Given the description of an element on the screen output the (x, y) to click on. 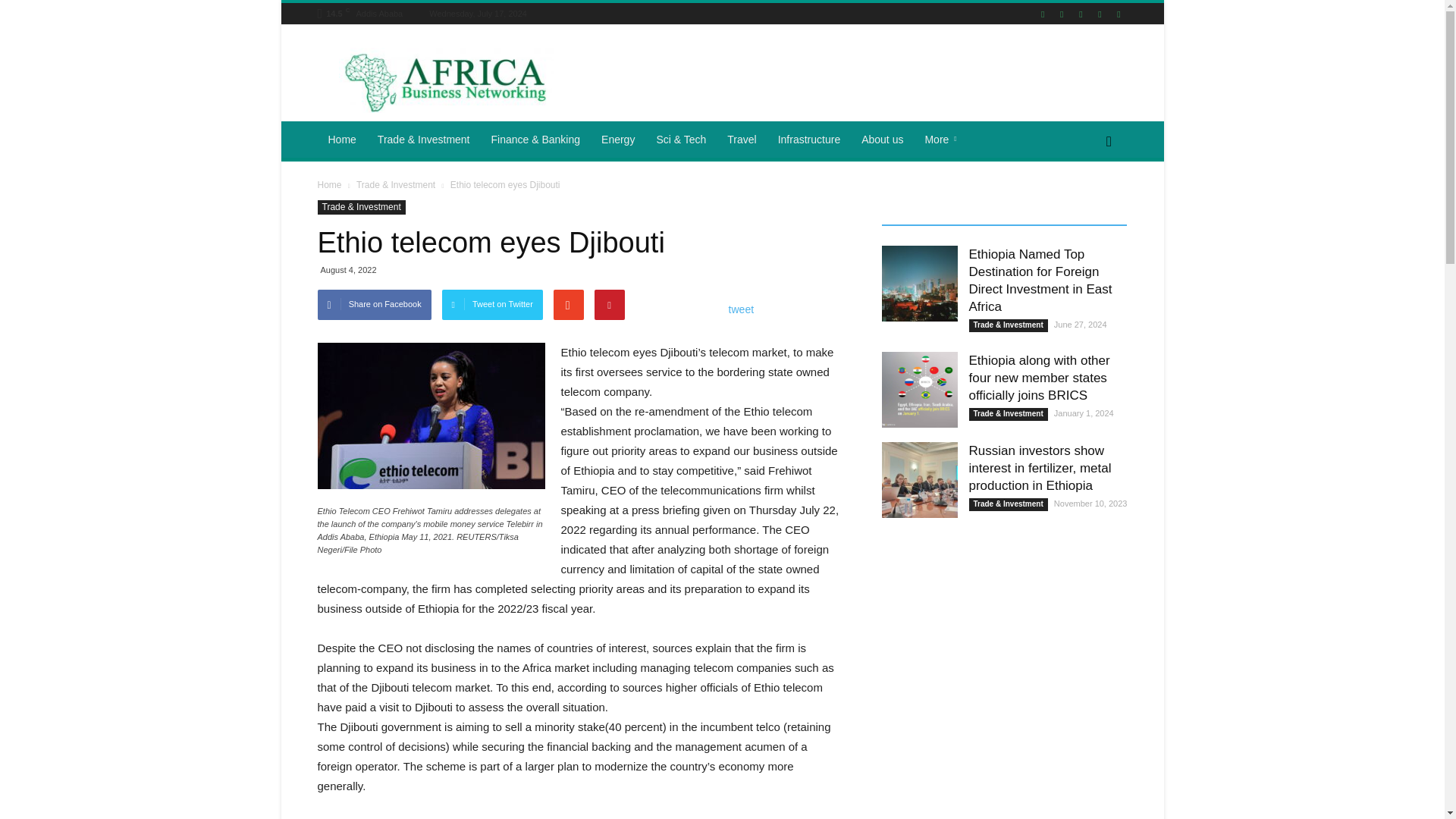
About us (882, 139)
Infrastructure (808, 139)
Twitter (1099, 13)
Instagram (1061, 13)
More (943, 139)
Travel (741, 139)
Energy (618, 139)
Facebook (1042, 13)
Home (341, 139)
Linkedin (1080, 13)
Youtube (1117, 13)
